Given the description of an element on the screen output the (x, y) to click on. 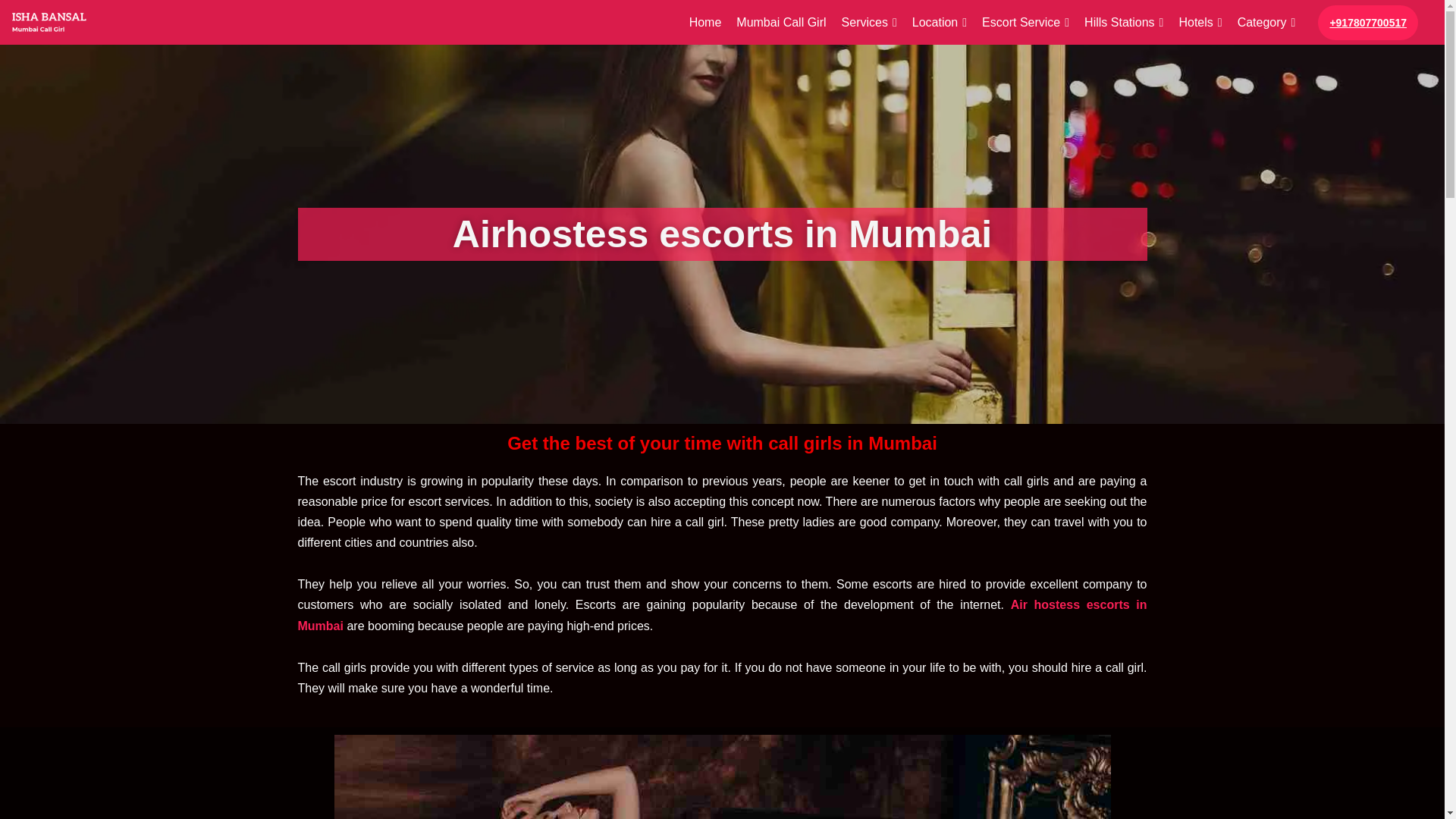
Services (869, 22)
Location (939, 22)
Mumbai Call Girl (780, 22)
Home (705, 22)
